Given the description of an element on the screen output the (x, y) to click on. 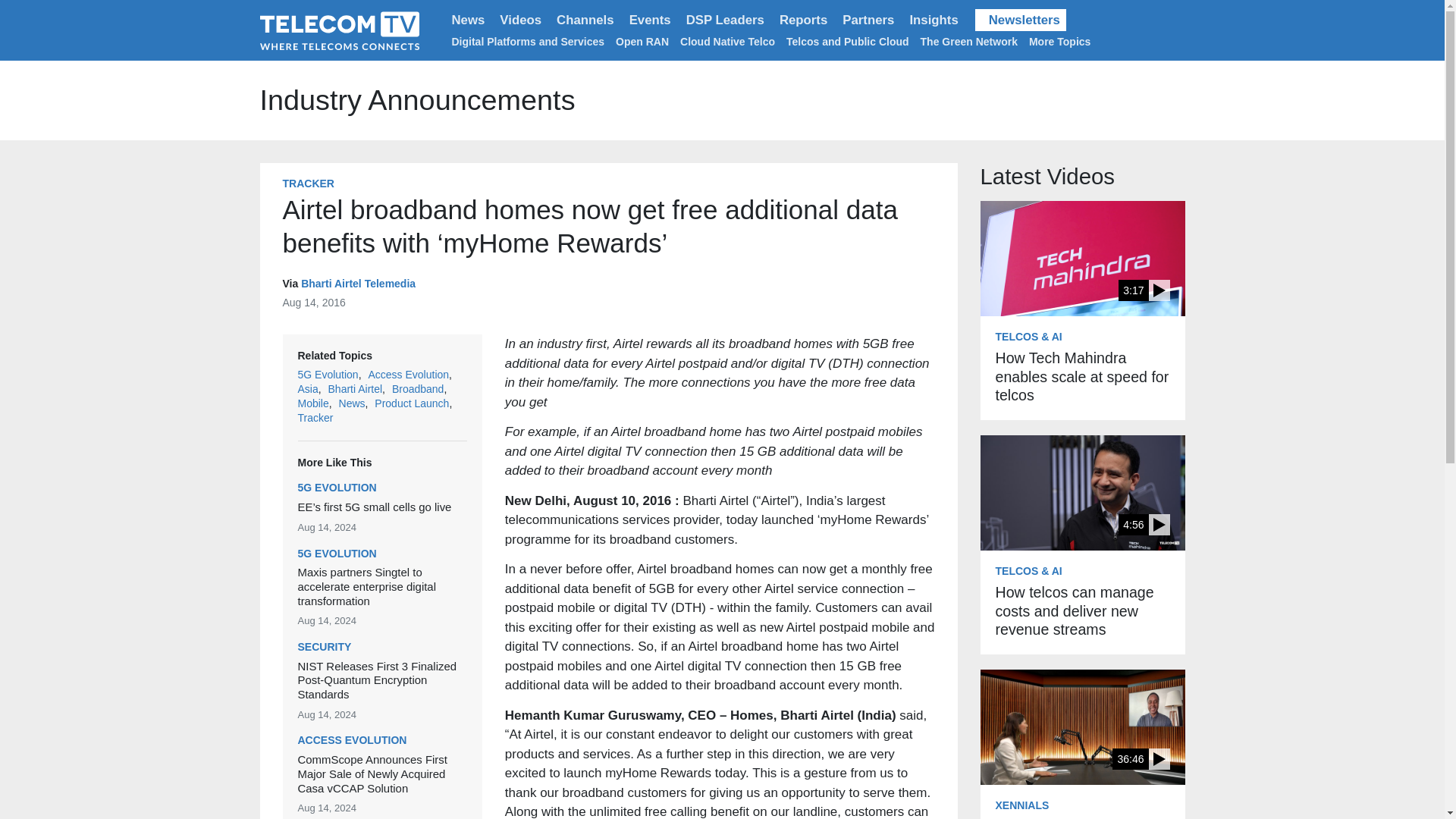
The Green Network (968, 41)
Telcos and Public Cloud (847, 41)
Open RAN (641, 41)
Cloud Native Telco (726, 41)
DSP Leaders (724, 20)
Reports (802, 20)
Newsletters (1020, 20)
Digital Platforms and Services (528, 41)
More Topics (1062, 41)
Insights (932, 20)
